Given the description of an element on the screen output the (x, y) to click on. 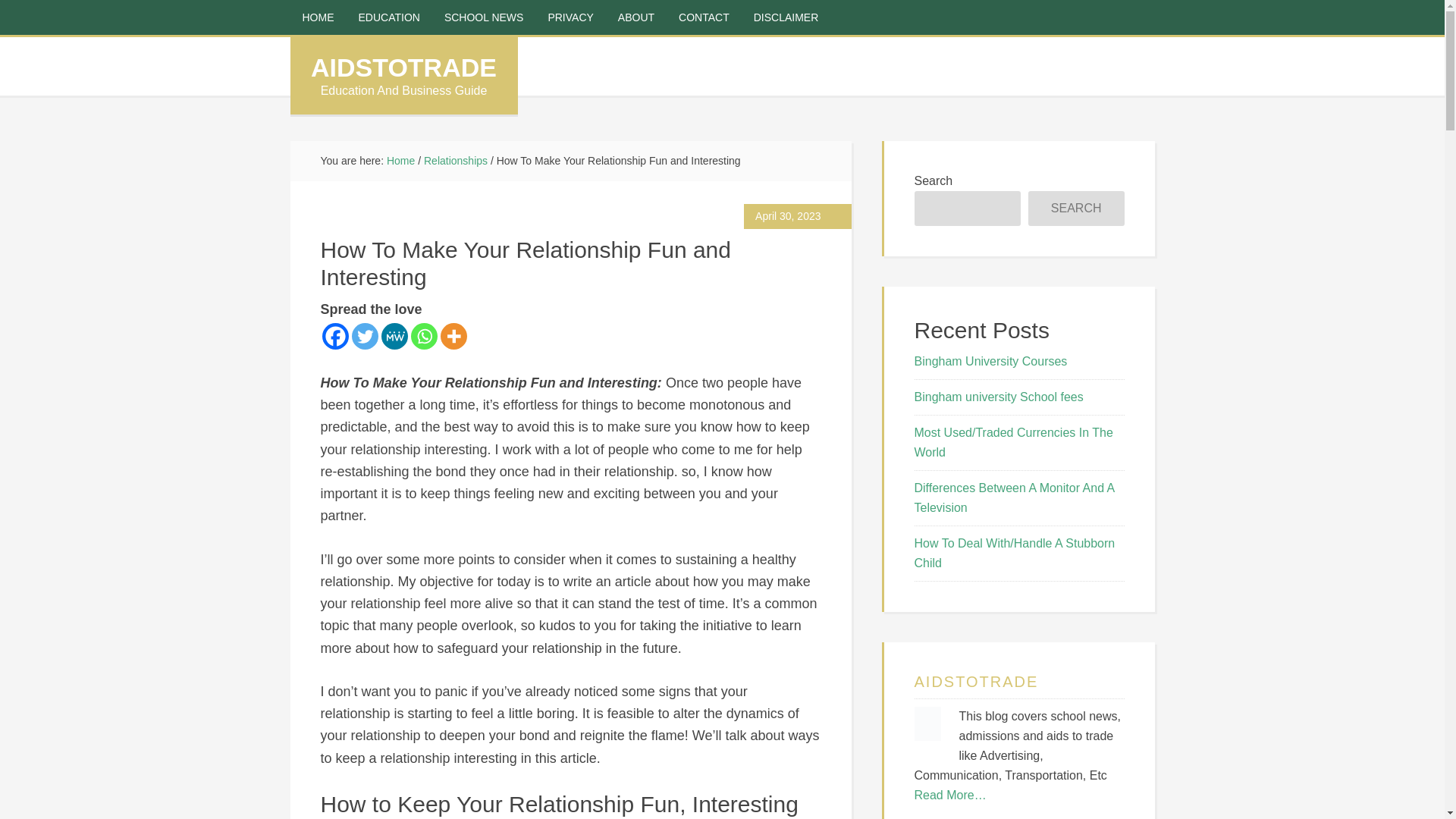
SEARCH (1075, 208)
SCHOOL NEWS (483, 17)
Twitter (365, 335)
AIDSTOTRADE (403, 67)
HOME (317, 17)
PRIVACY (570, 17)
Differences Between A Monitor And A Television (1014, 497)
DISCLAIMER (786, 17)
CONTACT (703, 17)
Relationships (455, 160)
